Given the description of an element on the screen output the (x, y) to click on. 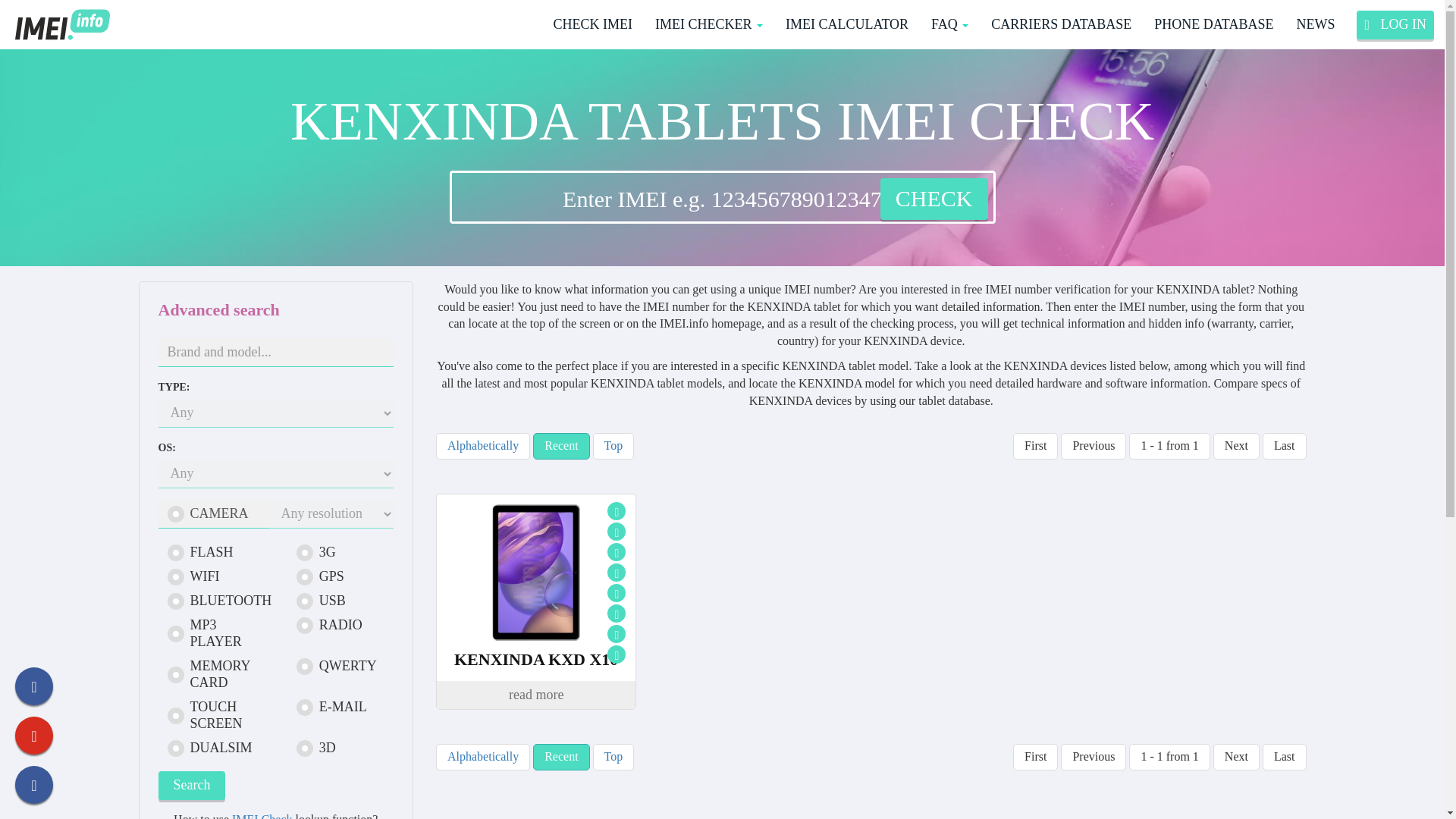
IMEI CALCULATOR (847, 24)
FAQ (949, 24)
KENXINDA KXD X10 (535, 659)
IMEI CHECKER (708, 24)
CHECK IMEI (592, 24)
